Given the description of an element on the screen output the (x, y) to click on. 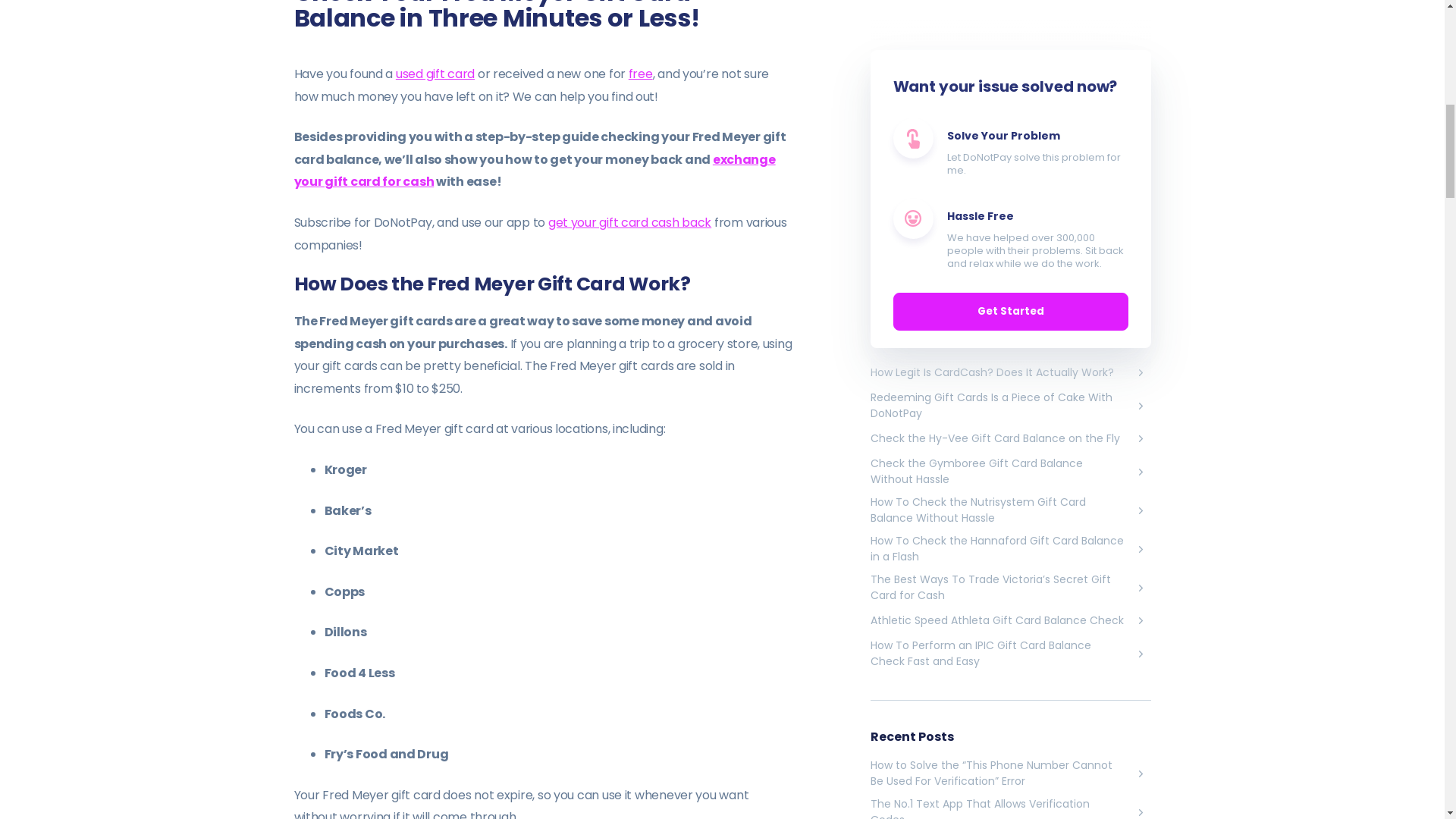
free (640, 73)
get your gift card cash back (629, 221)
exchange your gift card for cash (535, 170)
used gift card (435, 73)
